Given the description of an element on the screen output the (x, y) to click on. 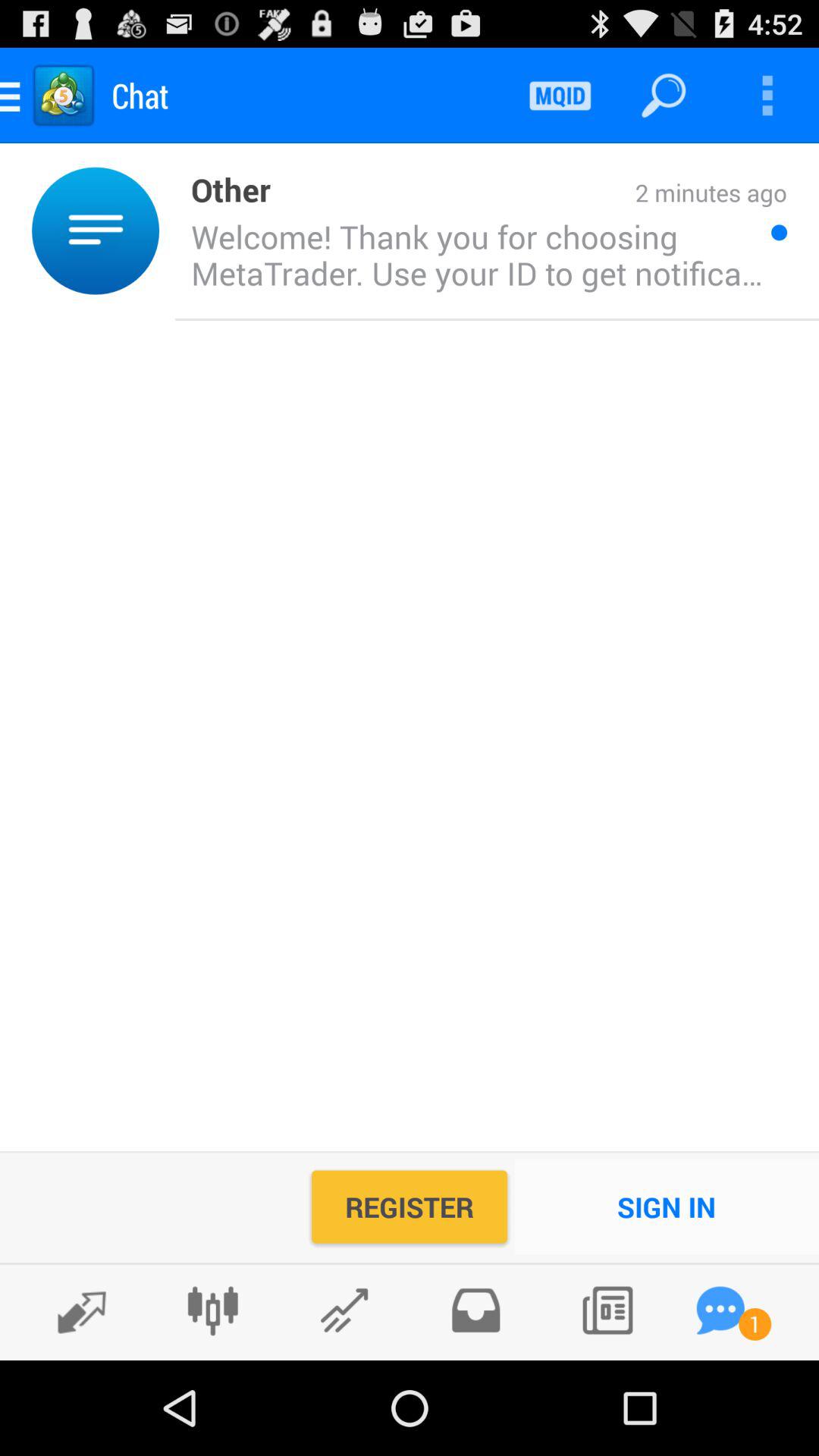
jump until the other icon (222, 188)
